Given the description of an element on the screen output the (x, y) to click on. 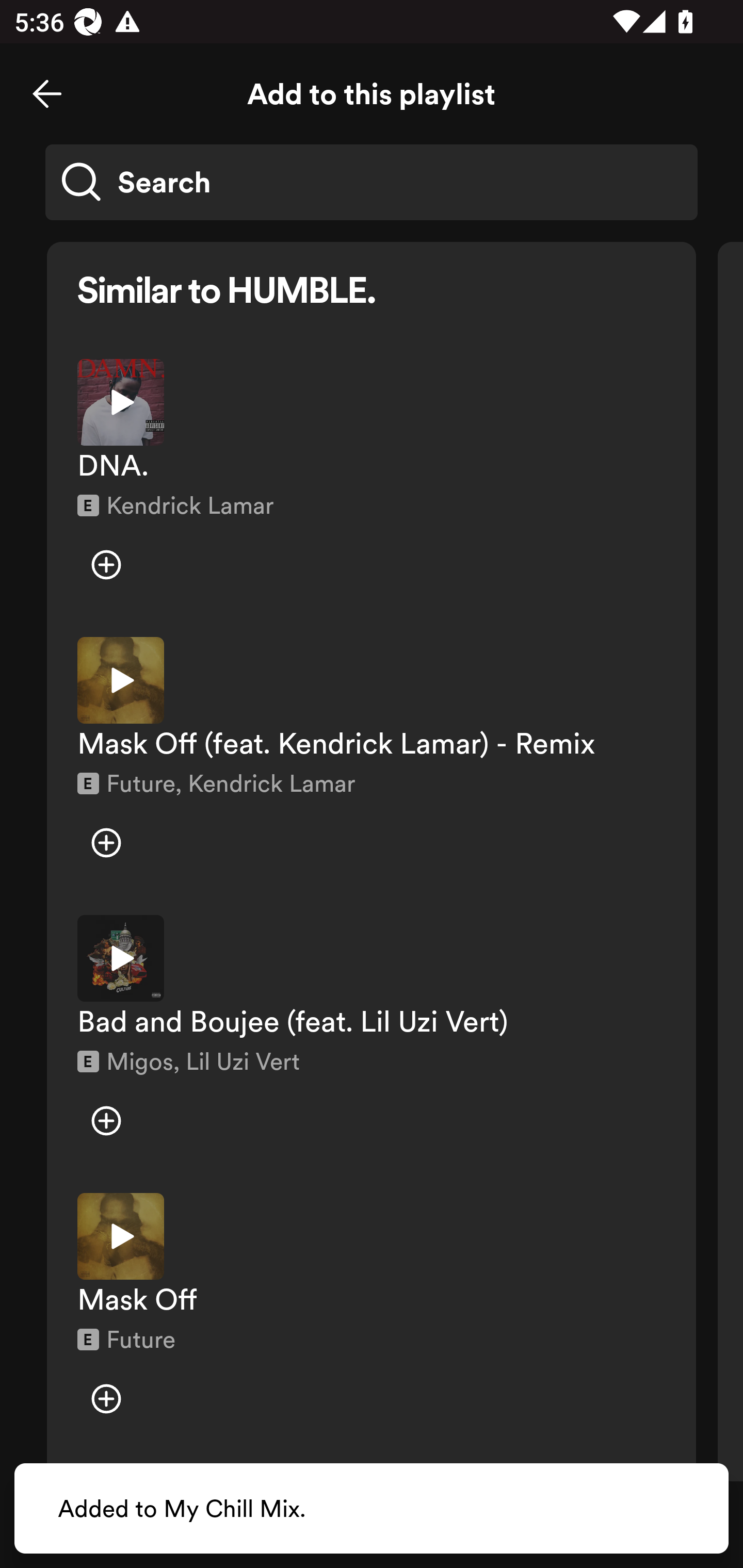
Close (46, 93)
Search (371, 181)
Play preview DNA. Explicit Kendrick Lamar Add item (371, 483)
Play preview (120, 402)
Add item (106, 565)
Play preview (120, 680)
Add item (106, 842)
Play preview (120, 958)
Add item (106, 1120)
Play preview Mask Off Explicit Future Add item (371, 1317)
Play preview (120, 1236)
Add item (106, 1398)
